Given the description of an element on the screen output the (x, y) to click on. 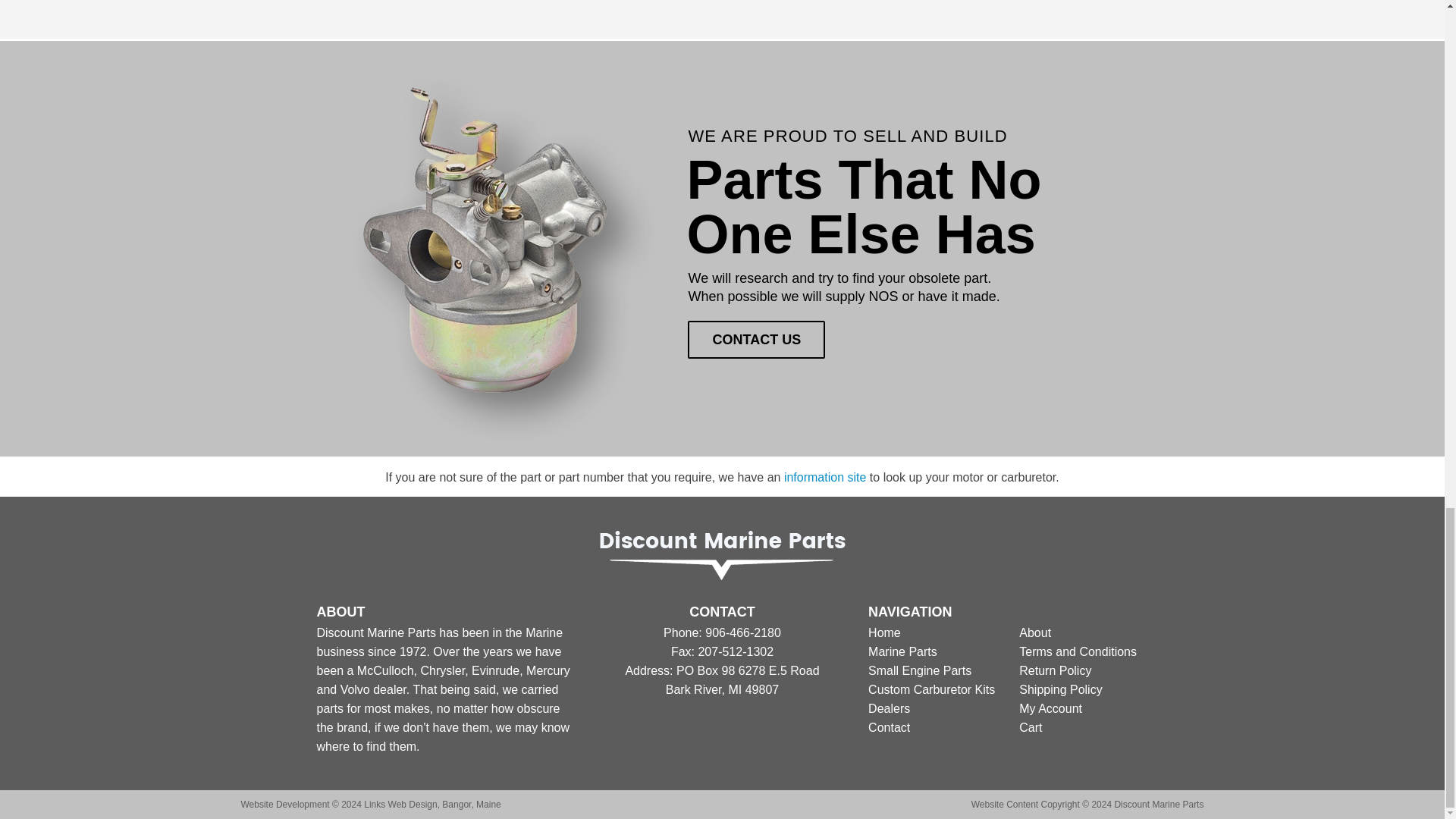
CONTACT US (756, 339)
information site (825, 477)
Home (884, 632)
Marine Parts (902, 651)
